Given the description of an element on the screen output the (x, y) to click on. 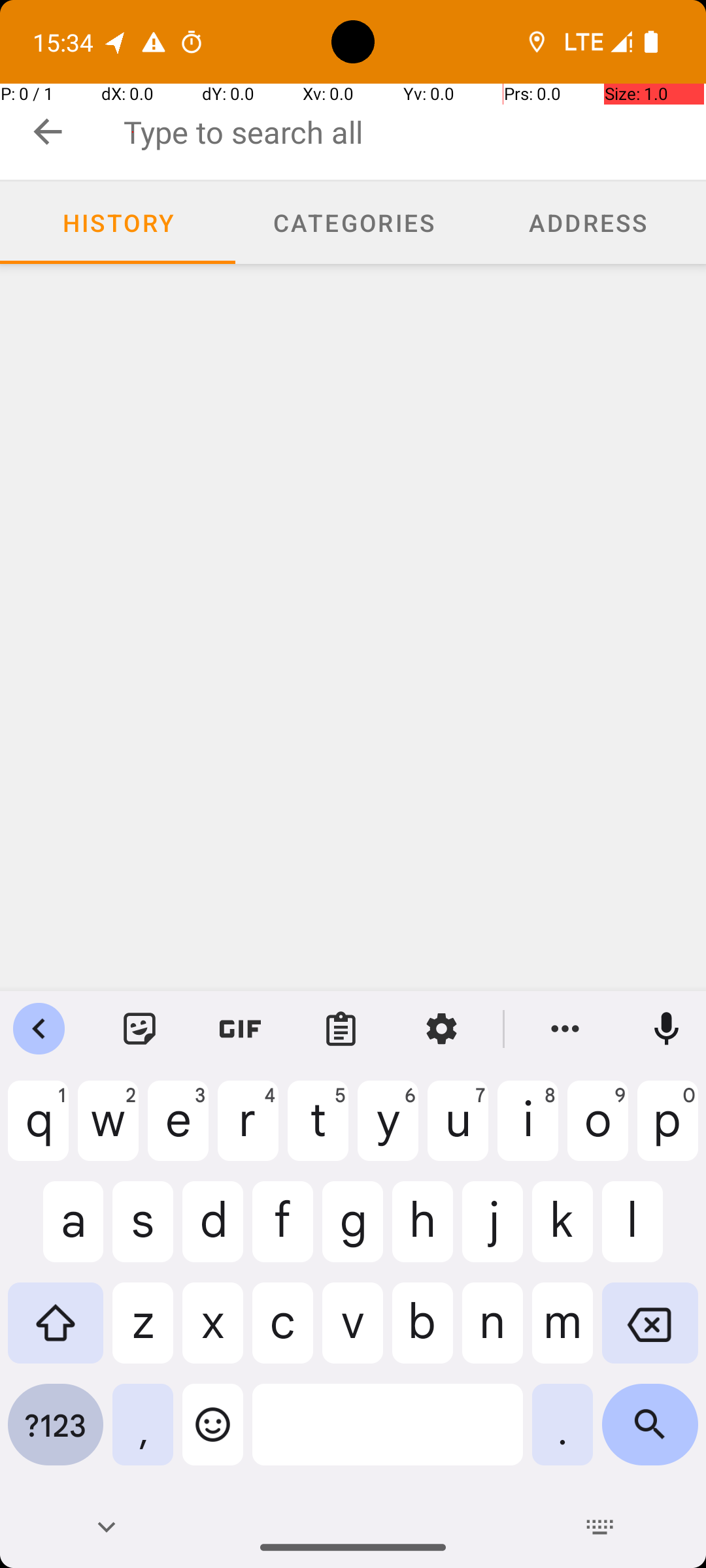
Type to search all Element type: android.widget.EditText (414, 131)
History Element type: android.widget.LinearLayout (117, 222)
Categories Element type: android.widget.LinearLayout (352, 222)
Address Element type: android.widget.LinearLayout (588, 222)
HISTORY Element type: android.widget.TextView (117, 222)
CATEGORIES Element type: android.widget.TextView (352, 222)
ADDRESS Element type: android.widget.TextView (587, 222)
OpenTracks notification: Distance: 8.20 mi Element type: android.widget.ImageView (115, 41)
